Given the description of an element on the screen output the (x, y) to click on. 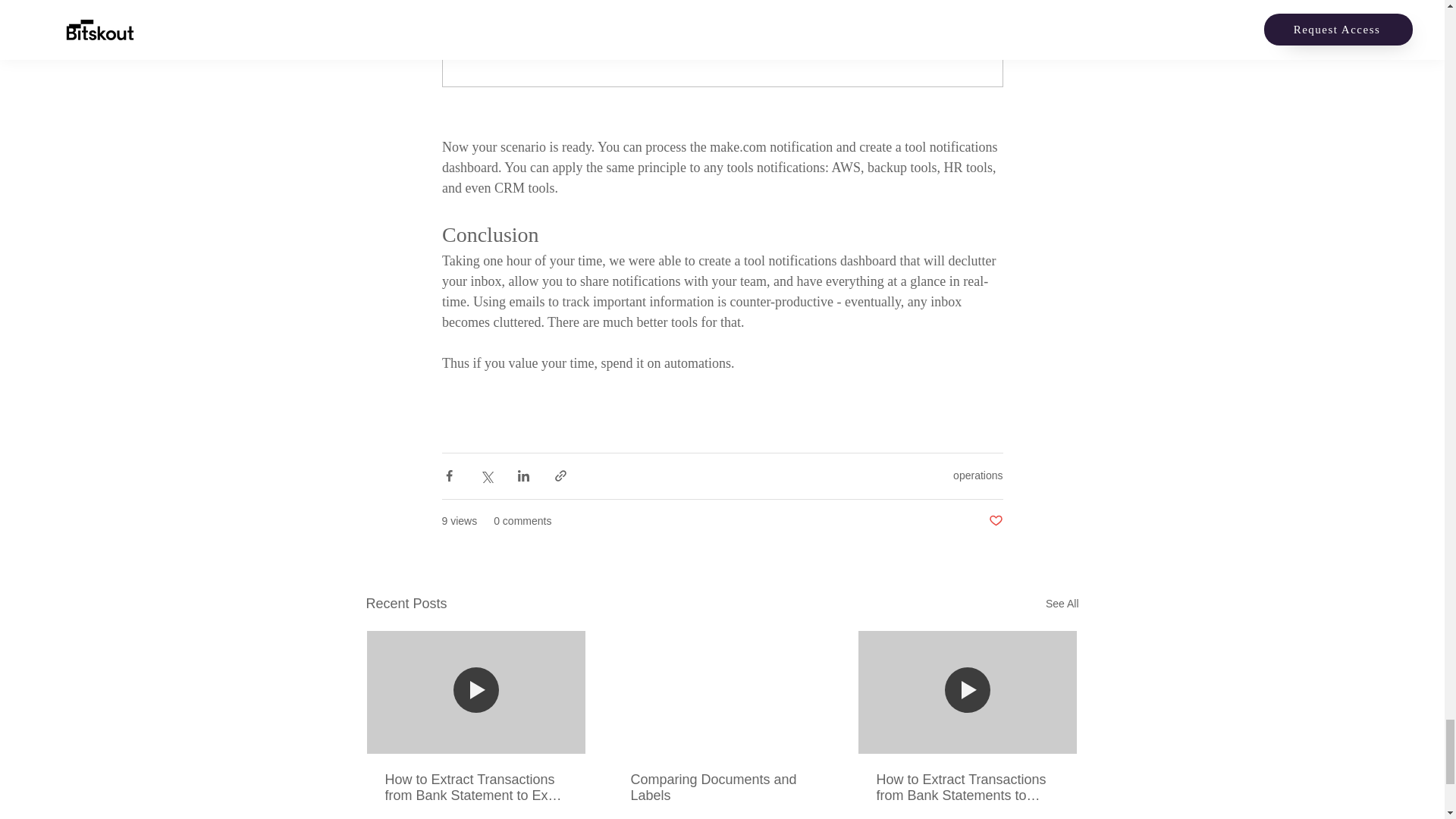
See All (1061, 603)
Post not marked as liked (995, 521)
Comparing Documents and Labels (721, 787)
operations (978, 475)
